Given the description of an element on the screen output the (x, y) to click on. 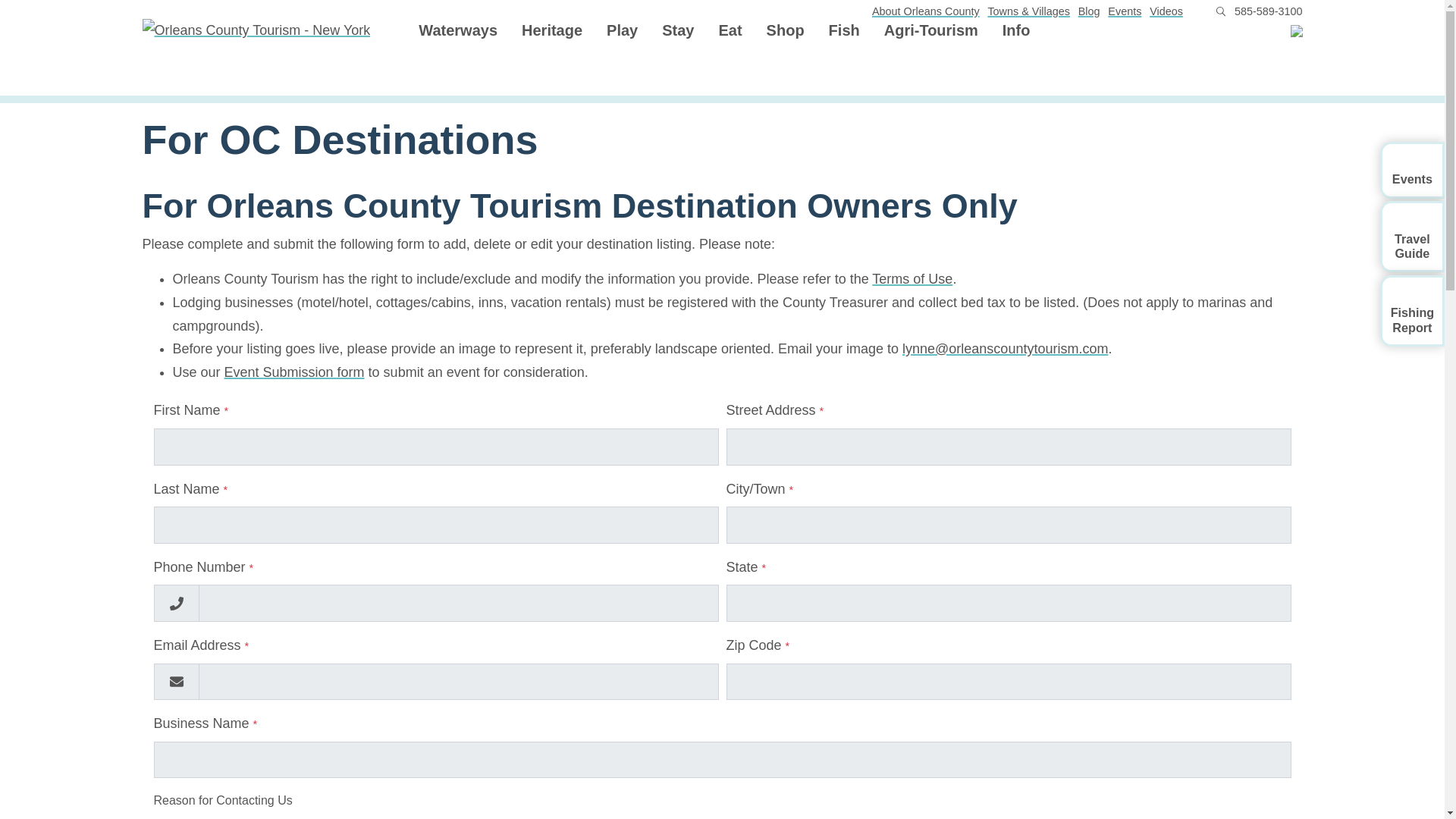
Blog (1089, 10)
Stay (678, 31)
Events (1124, 10)
About Orleans County (925, 10)
Waterways (458, 31)
Videos (1166, 10)
Heritage (551, 31)
Play (622, 31)
